Given the description of an element on the screen output the (x, y) to click on. 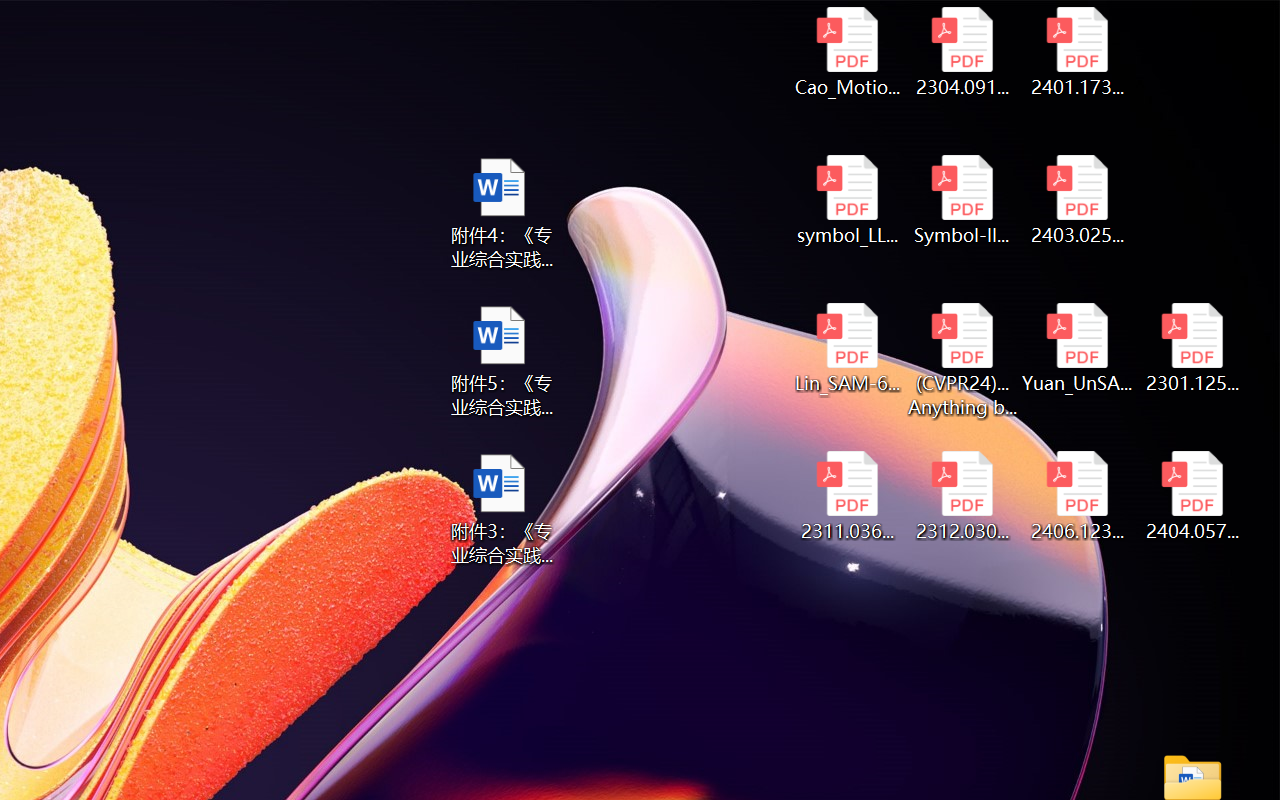
(CVPR24)Matching Anything by Segmenting Anything.pdf (962, 360)
